Given the description of an element on the screen output the (x, y) to click on. 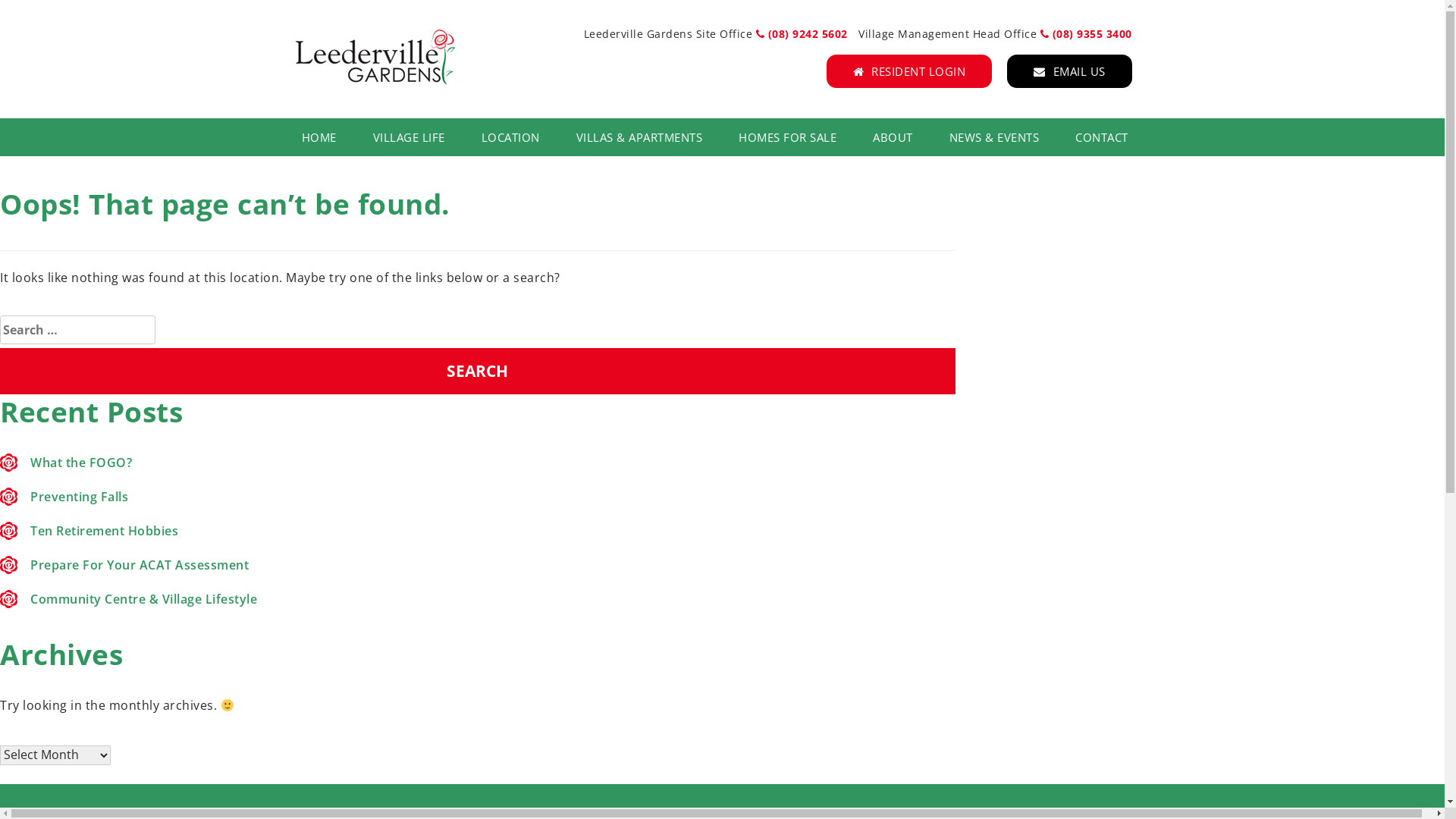
CONTACT Element type: text (1092, 137)
EMAIL US Element type: text (1069, 70)
LOCATION Element type: text (509, 137)
VILLAGE LIFE Element type: text (408, 137)
HOME Element type: text (327, 137)
NEWS & EVENTS Element type: text (994, 137)
RESIDENT LOGIN Element type: text (909, 70)
Ten Retirement Hobbies Element type: text (104, 530)
ABOUT Element type: text (892, 137)
Search Element type: text (477, 371)
Preventing Falls Element type: text (79, 496)
What the FOGO? Element type: text (80, 462)
HOMES FOR SALE Element type: text (787, 137)
Community Centre & Village Lifestyle Element type: text (143, 598)
(08) 9355 3400 Element type: text (1086, 33)
VILLAS & APARTMENTS Element type: text (639, 137)
(08) 9242 5602 Element type: text (804, 33)
Prepare For Your ACAT Assessment Element type: text (139, 564)
